Given the description of an element on the screen output the (x, y) to click on. 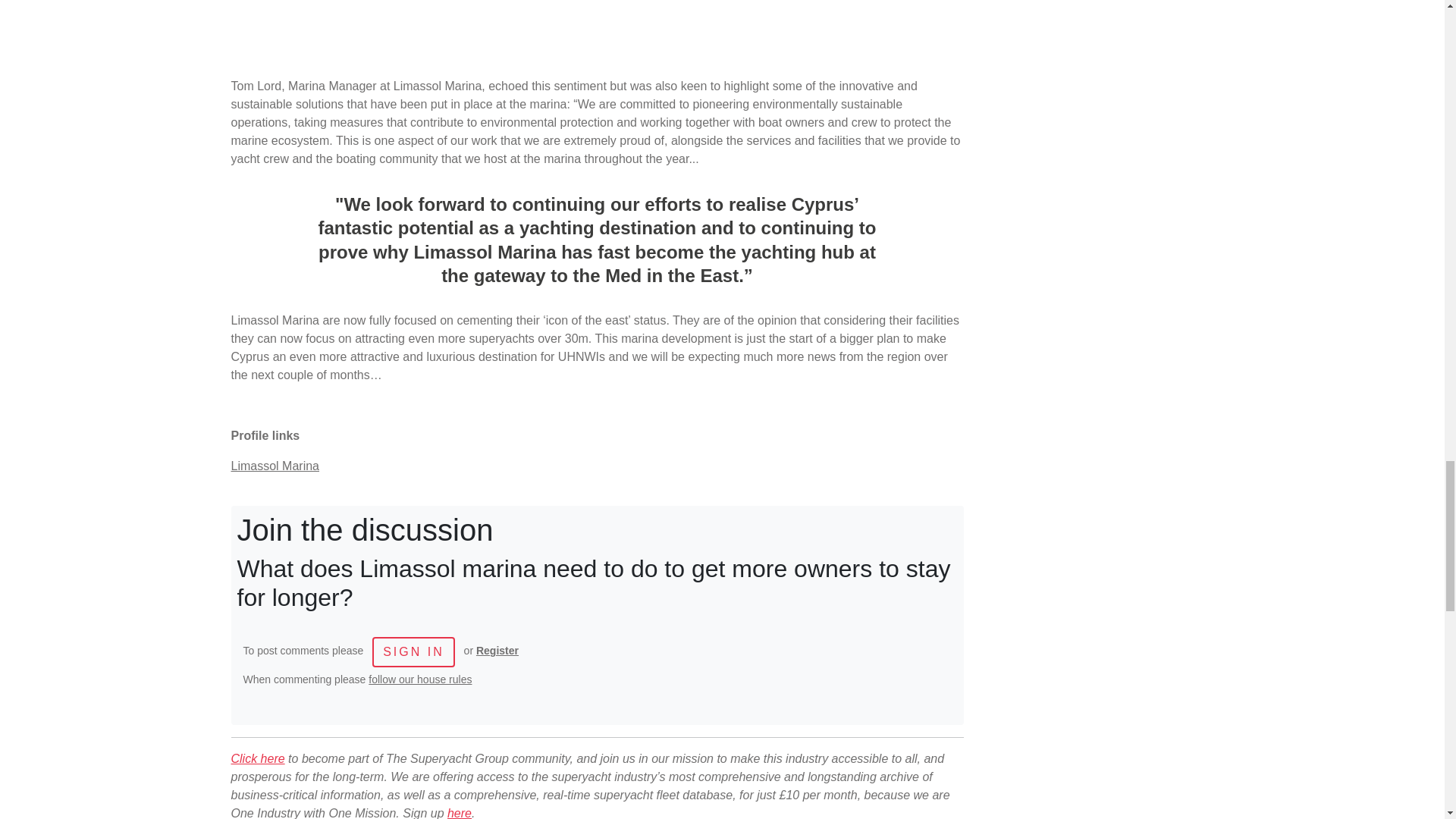
Limassol Marina (274, 465)
Click here (256, 758)
here (458, 812)
follow our house rules (419, 679)
